Given the description of an element on the screen output the (x, y) to click on. 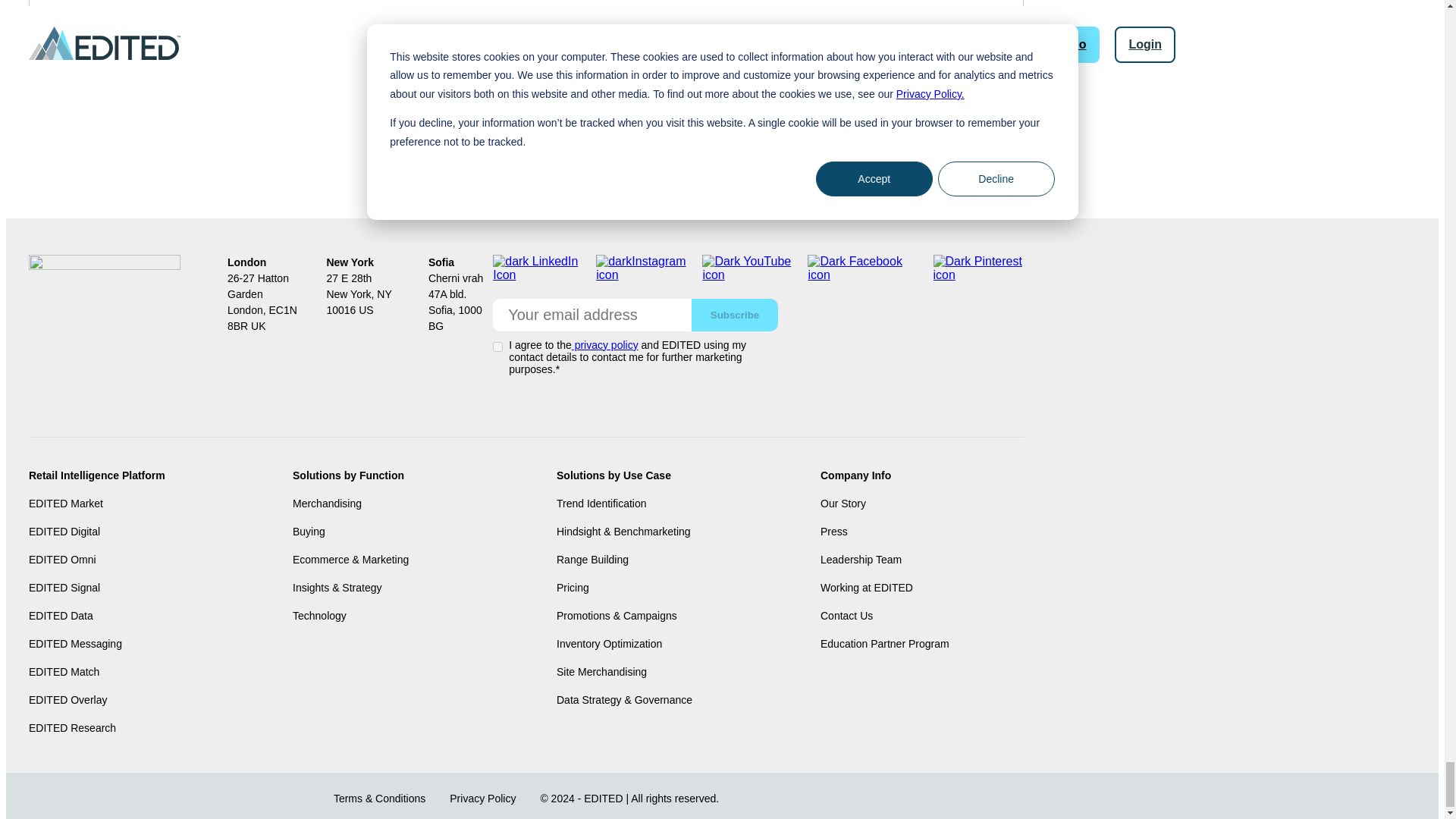
Subscribe (734, 314)
true (497, 347)
